Given the description of an element on the screen output the (x, y) to click on. 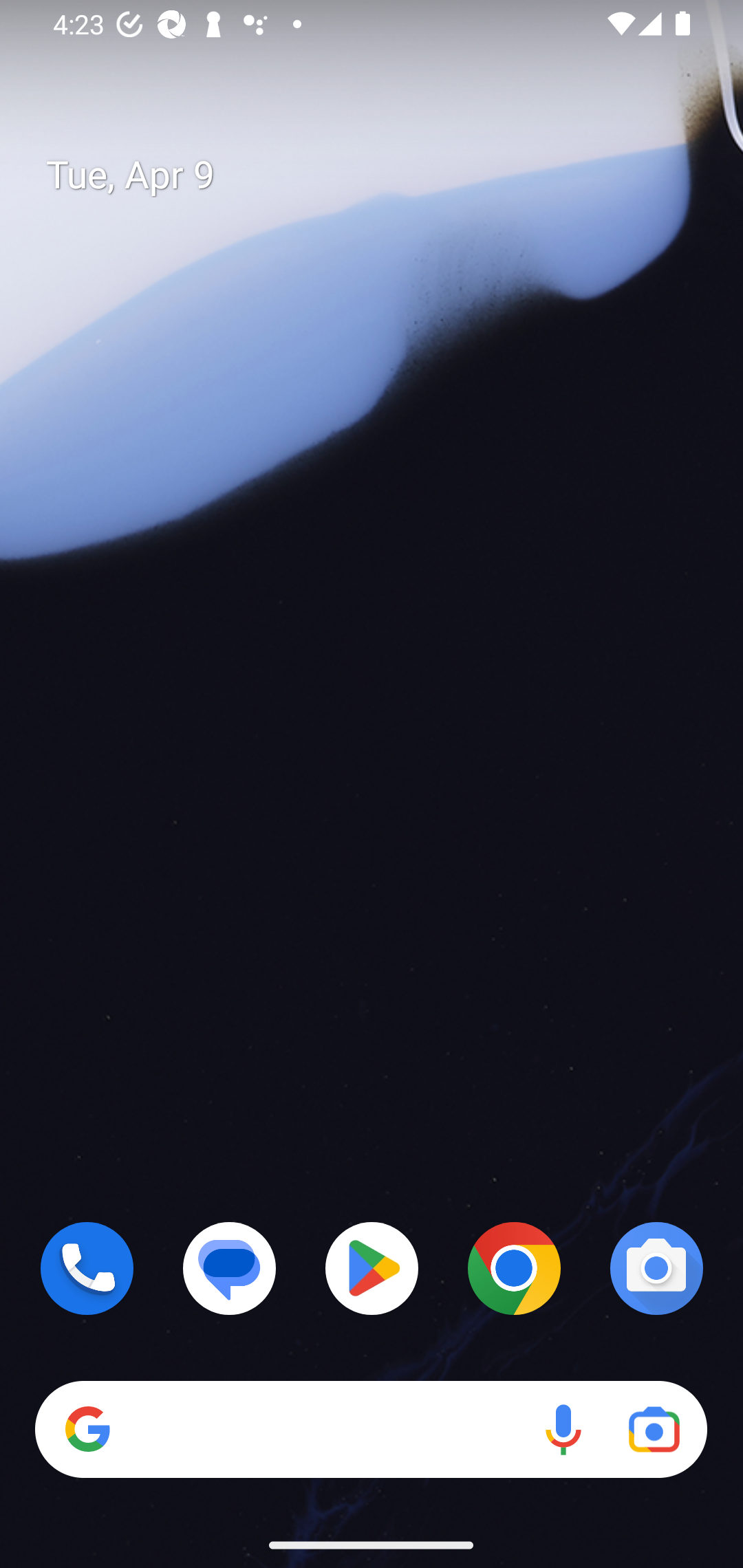
Tue, Apr 9 (386, 175)
Phone (86, 1268)
Messages (229, 1268)
Play Store (371, 1268)
Chrome (513, 1268)
Camera (656, 1268)
Voice search (562, 1429)
Google Lens (653, 1429)
